Given the description of an element on the screen output the (x, y) to click on. 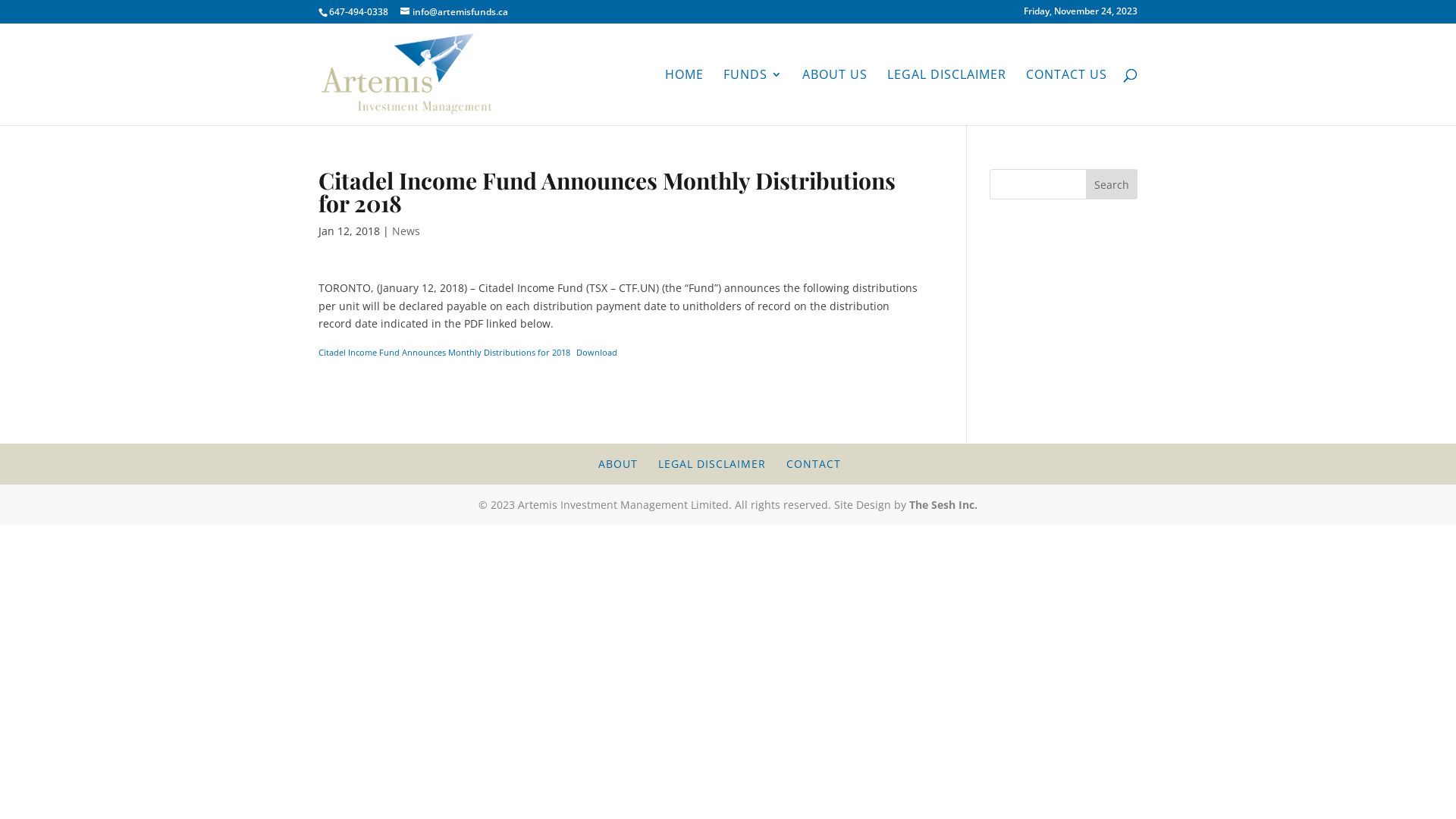
HOME Element type: text (684, 97)
Download Element type: text (596, 352)
LEGAL DISCLAIMER Element type: text (711, 463)
info@artemisfunds.ca Element type: text (454, 11)
ABOUT US Element type: text (834, 97)
CONTACT Element type: text (813, 463)
FUNDS Element type: text (752, 97)
The Sesh Inc. Element type: text (943, 504)
CONTACT US Element type: text (1066, 97)
LEGAL DISCLAIMER Element type: text (946, 97)
ABOUT Element type: text (617, 463)
News Element type: text (406, 230)
Search Element type: text (1111, 184)
Citadel Income Fund Announces Monthly Distributions for 2018 Element type: text (444, 351)
